Given the description of an element on the screen output the (x, y) to click on. 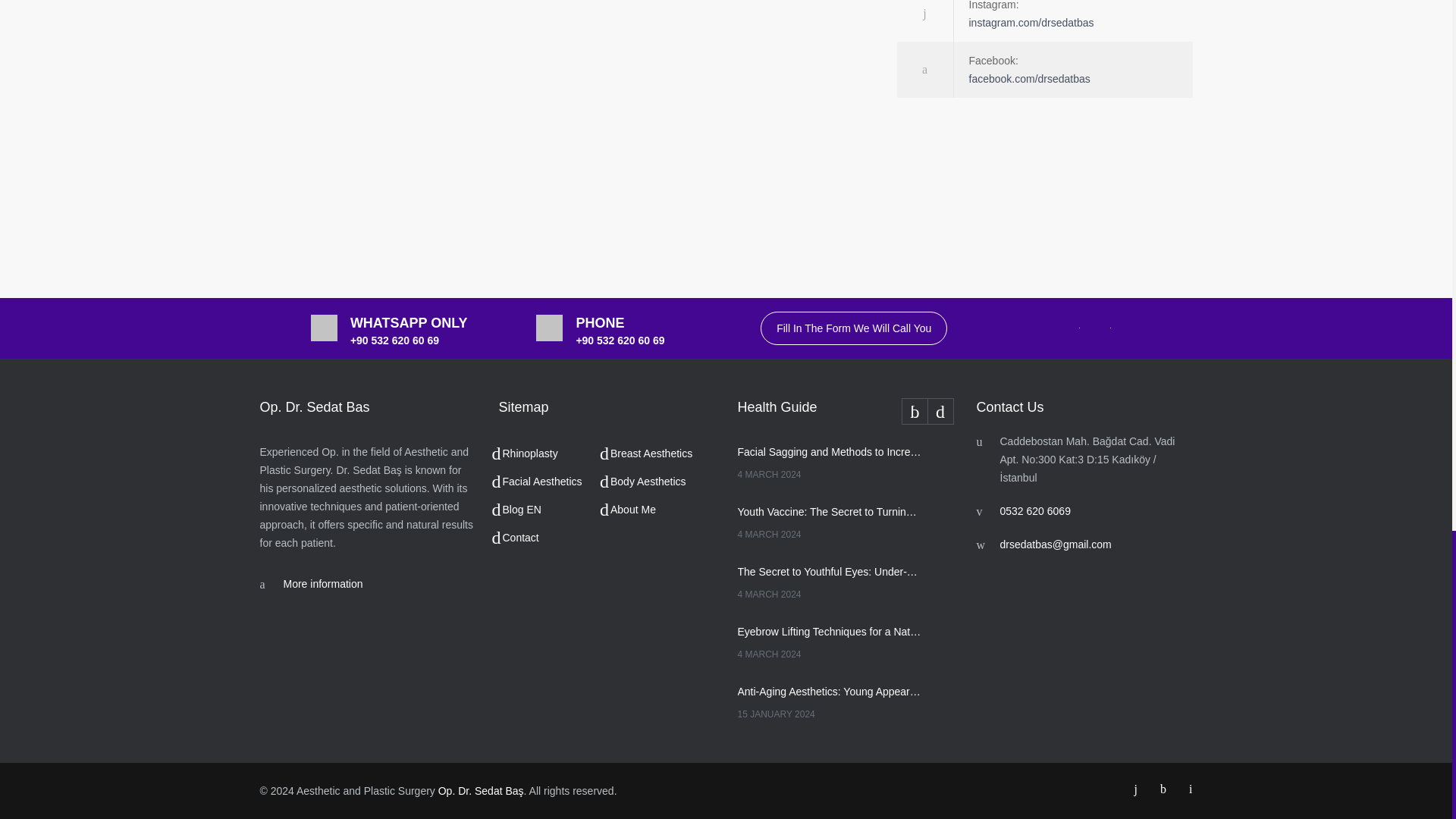
Health Guide (844, 410)
